Given the description of an element on the screen output the (x, y) to click on. 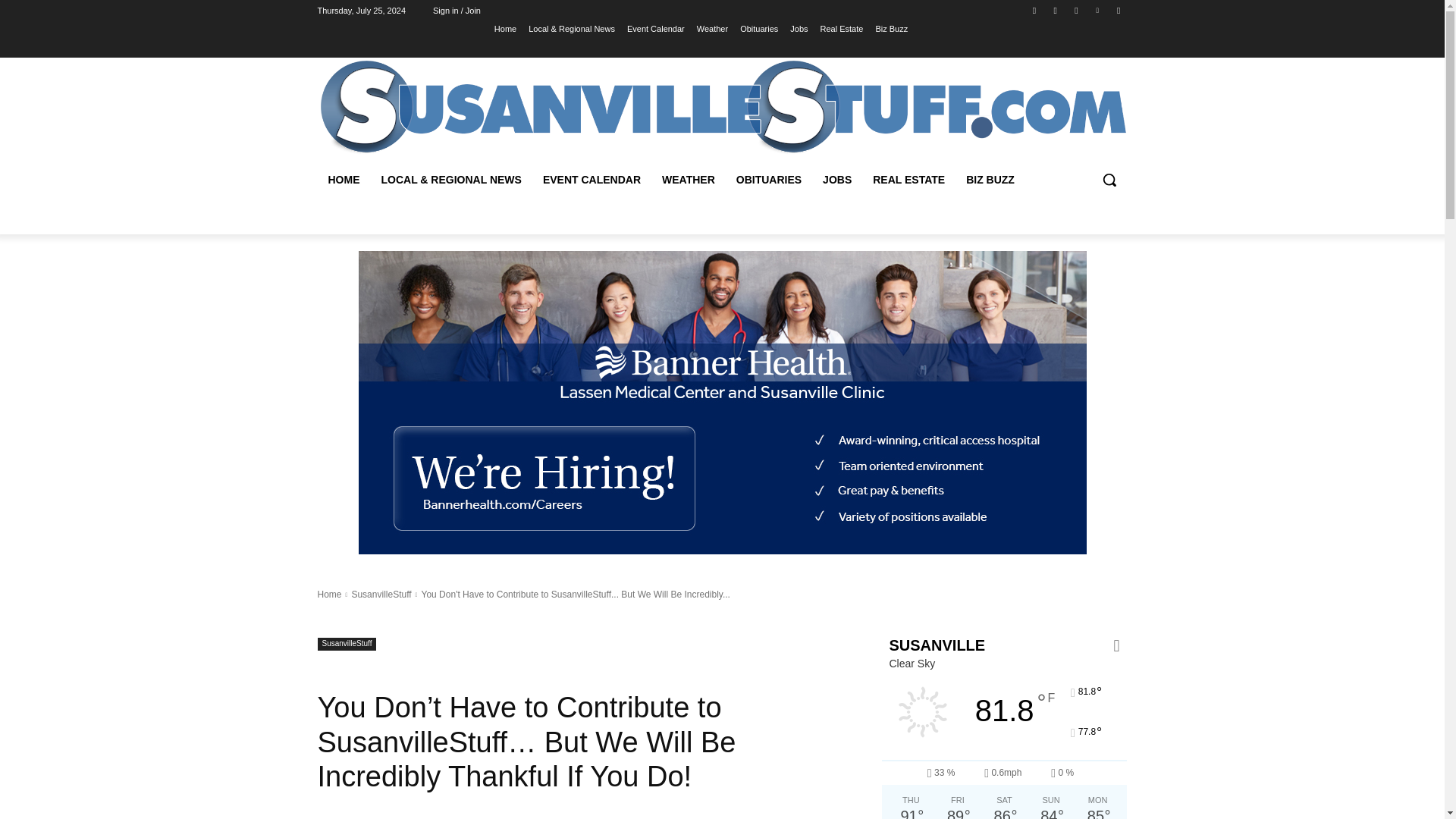
Instagram (1055, 9)
header1920 (721, 107)
Real Estate (842, 28)
Vimeo (1097, 9)
EVENT CALENDAR (591, 179)
View all posts in SusanvilleStuff (380, 593)
JOBS (836, 179)
Twitter (1075, 9)
OBITUARIES (768, 179)
Weather (712, 28)
Event Calendar (655, 28)
BIZ BUZZ (990, 179)
WEATHER (687, 179)
Biz Buzz (891, 28)
REAL ESTATE (908, 179)
